Given the description of an element on the screen output the (x, y) to click on. 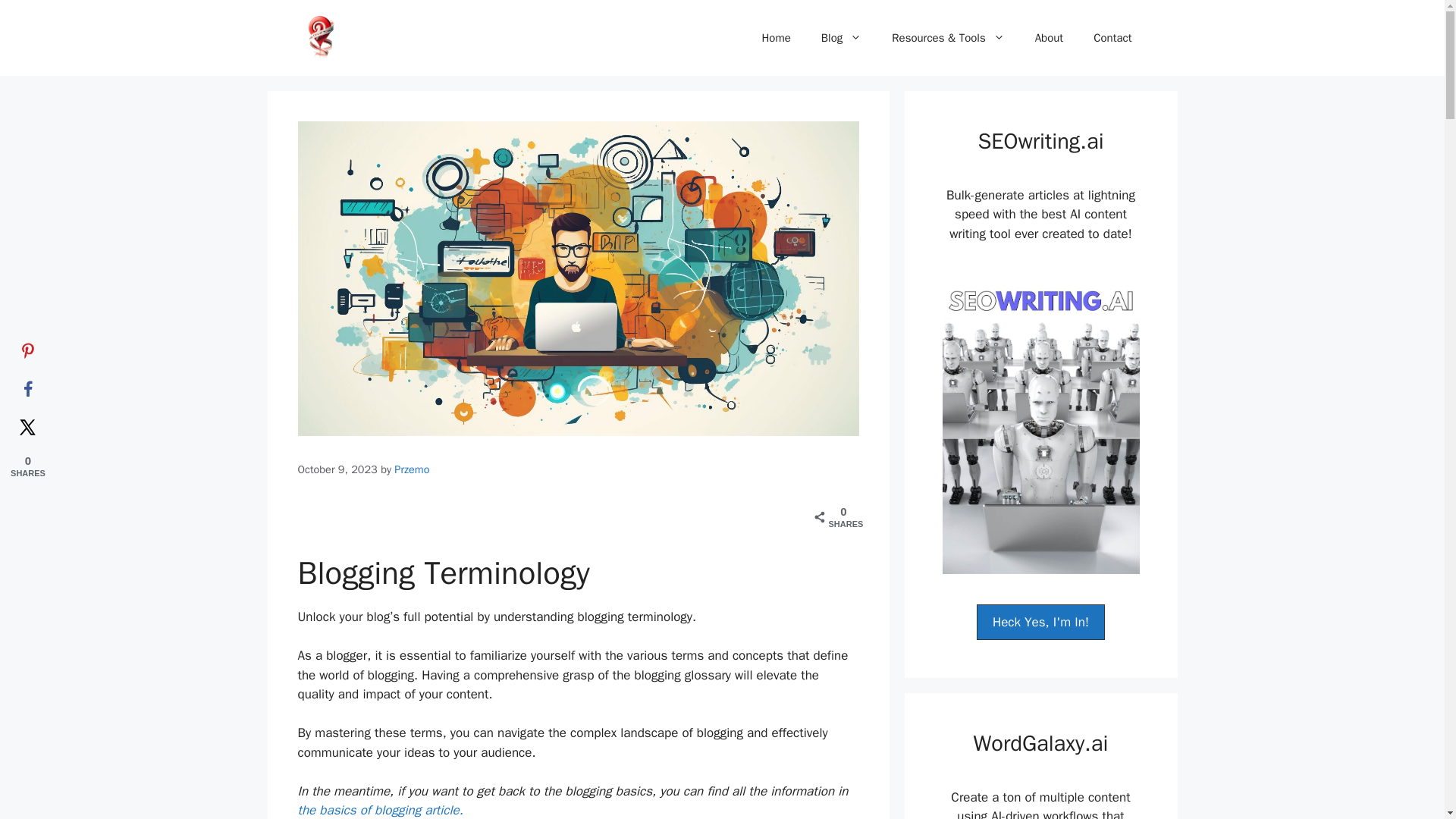
View all posts by Przemo (411, 468)
Blog (841, 37)
Share on X (27, 427)
Home (775, 37)
Save to Pinterest (27, 351)
Share on Facebook (27, 389)
